Given the description of an element on the screen output the (x, y) to click on. 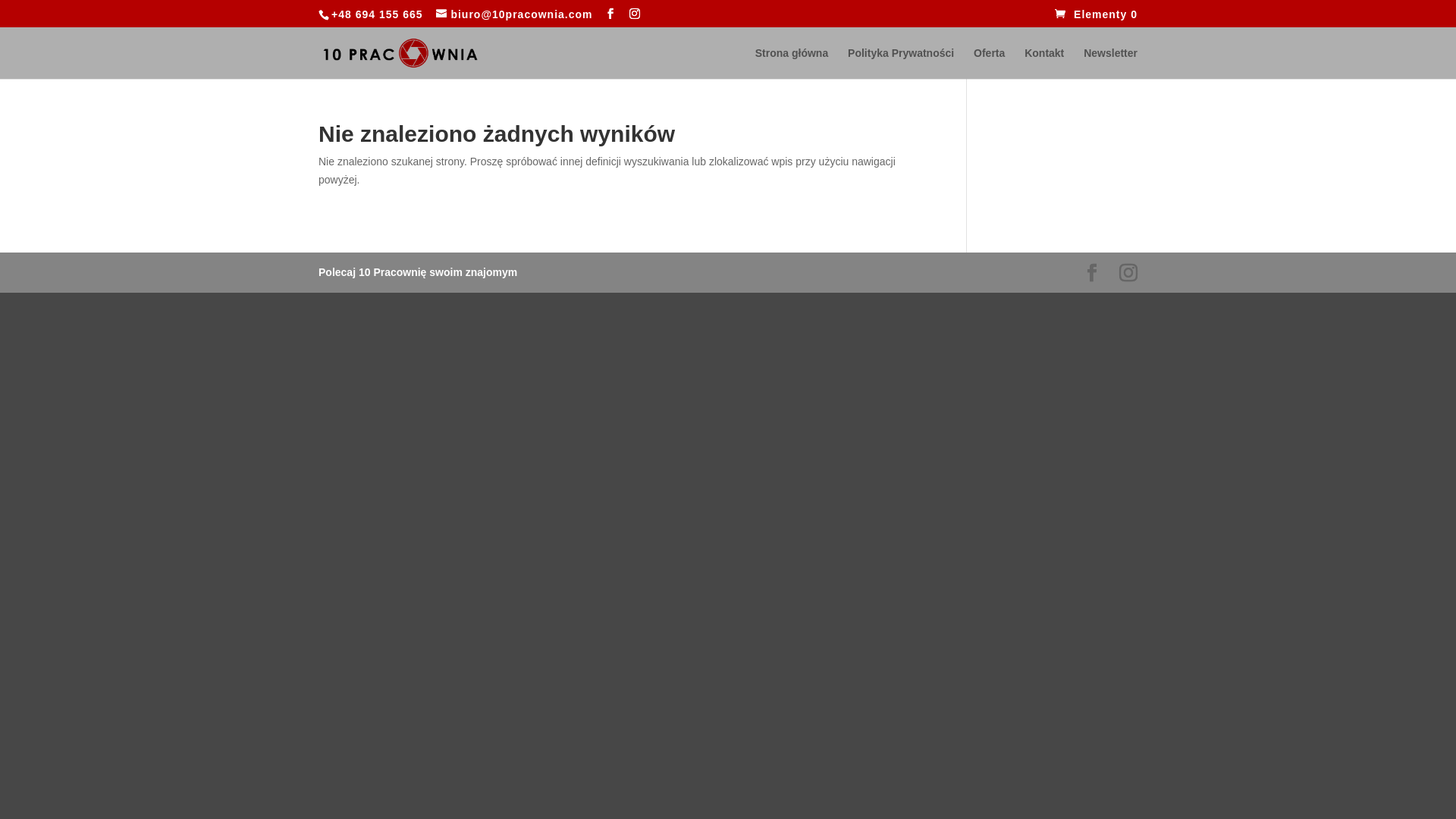
Newsletter Element type: text (1110, 62)
biuro@10pracownia.com Element type: text (514, 13)
Elementy 0 Element type: text (1095, 13)
Oferta Element type: text (988, 62)
Kontakt Element type: text (1043, 62)
